Given the description of an element on the screen output the (x, y) to click on. 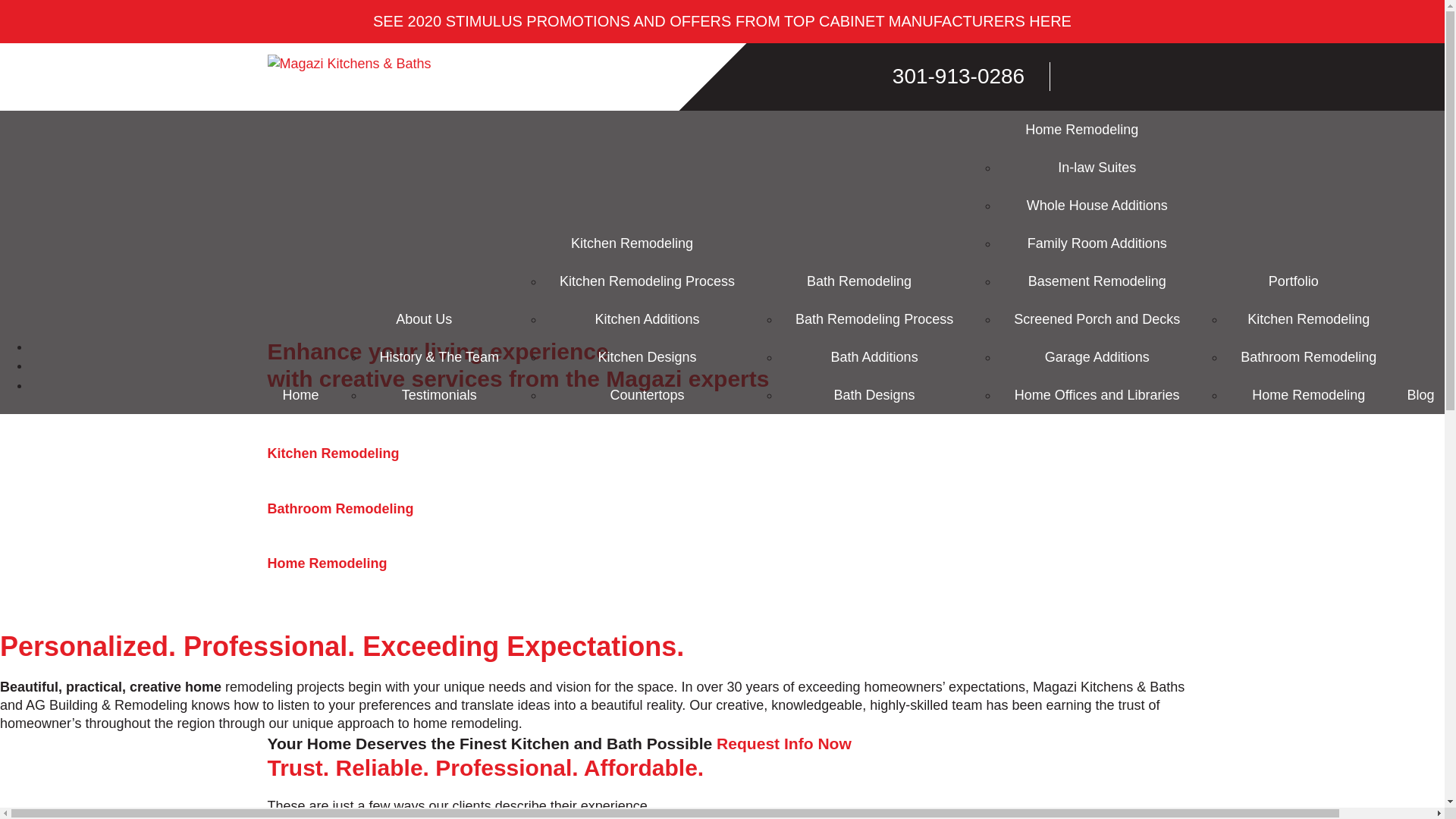
Request Info Now (783, 743)
Portfolio (1293, 281)
Kitchen Designs (646, 356)
Testimonials (439, 394)
Blog (1419, 394)
Garage Additions (1096, 356)
Kitchen Remodeling Process (646, 281)
Screened Porch and Decks (1096, 319)
Bathroom Remodeling (721, 491)
Basement Remodeling (1096, 281)
Home Remodeling (1308, 394)
Bath Additions (874, 356)
Family Room Additions (1096, 243)
In-law Suites (1096, 167)
Home (299, 394)
